Given the description of an element on the screen output the (x, y) to click on. 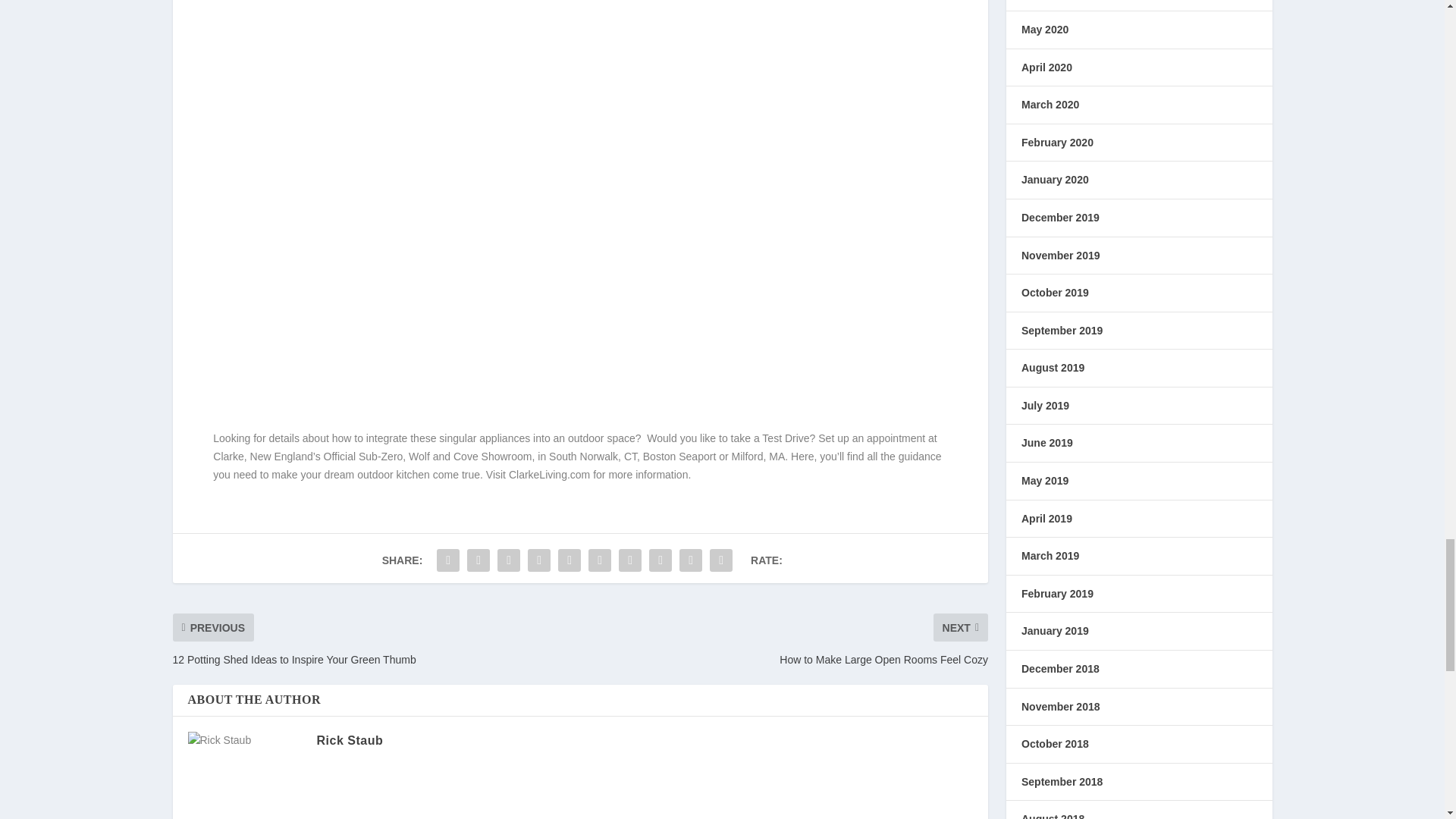
ClarkeLiving.com (548, 474)
Clarke, (229, 456)
Rick Staub (350, 739)
South Norwalk, CT, Boston Seaport or Milford, MA. Here, y (686, 456)
